Given the description of an element on the screen output the (x, y) to click on. 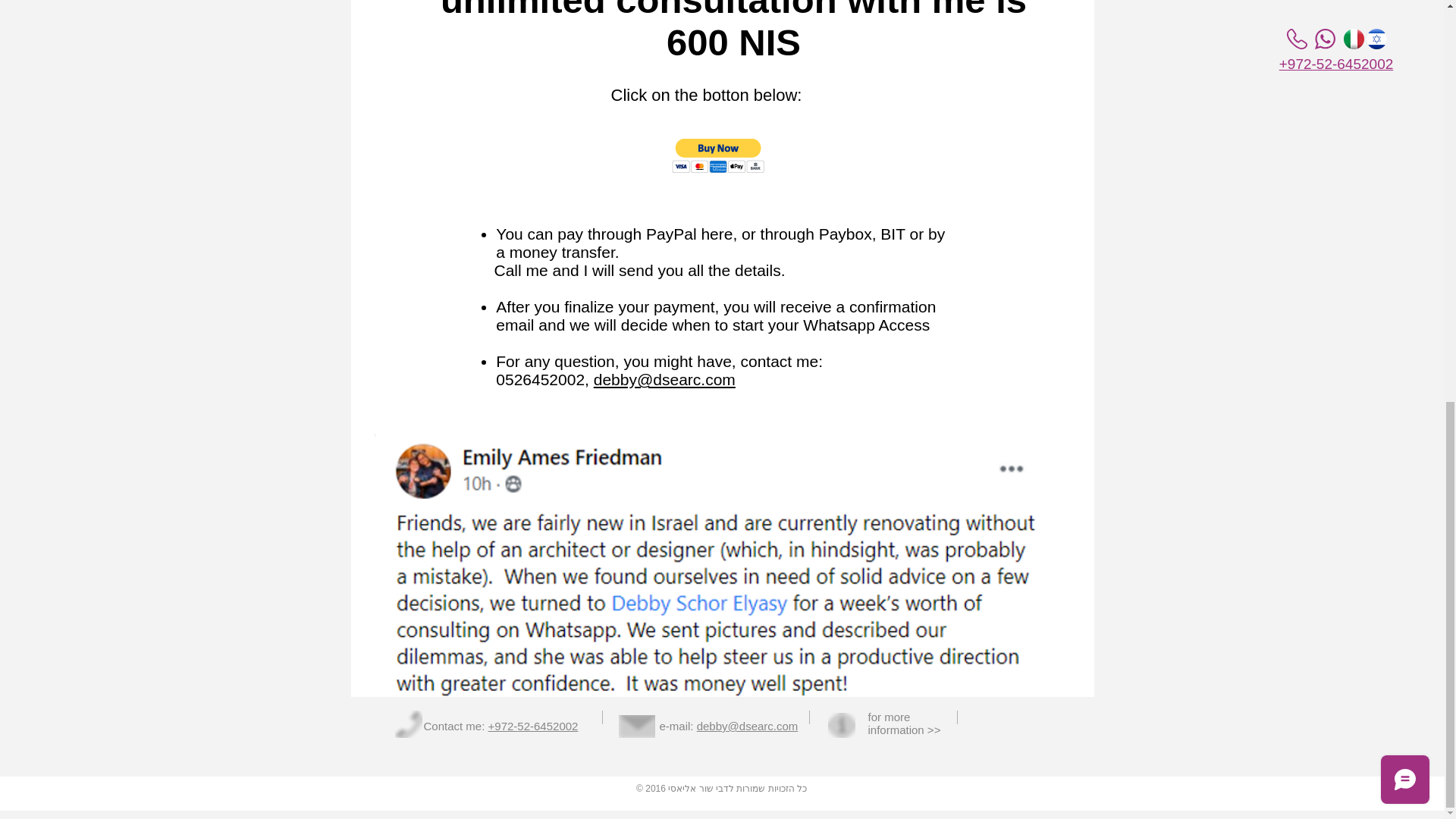
52-6452002 (547, 725)
Embedded Content (746, 160)
